Given the description of an element on the screen output the (x, y) to click on. 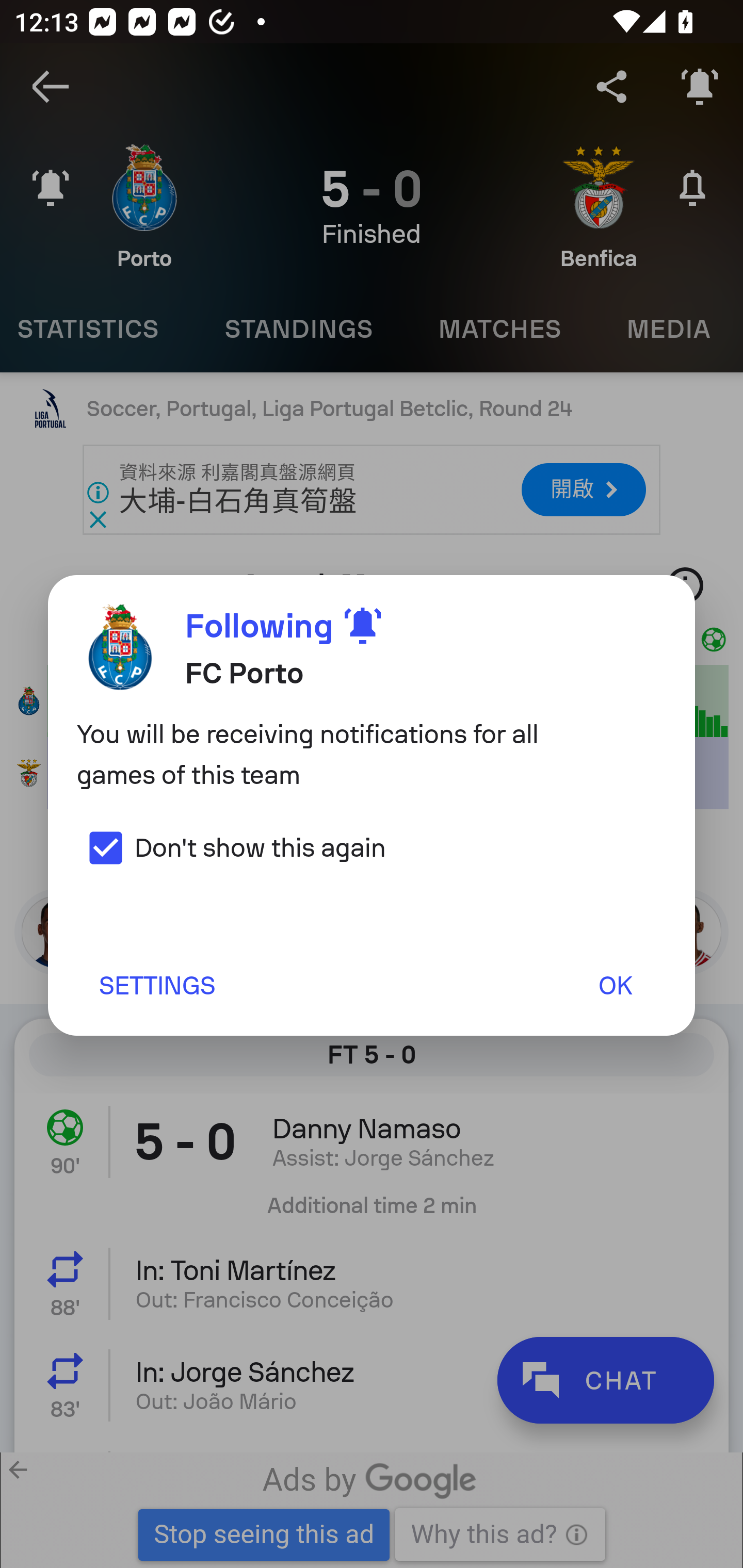
Don't show this again (231, 847)
SETTINGS (156, 985)
OK (615, 985)
